Given the description of an element on the screen output the (x, y) to click on. 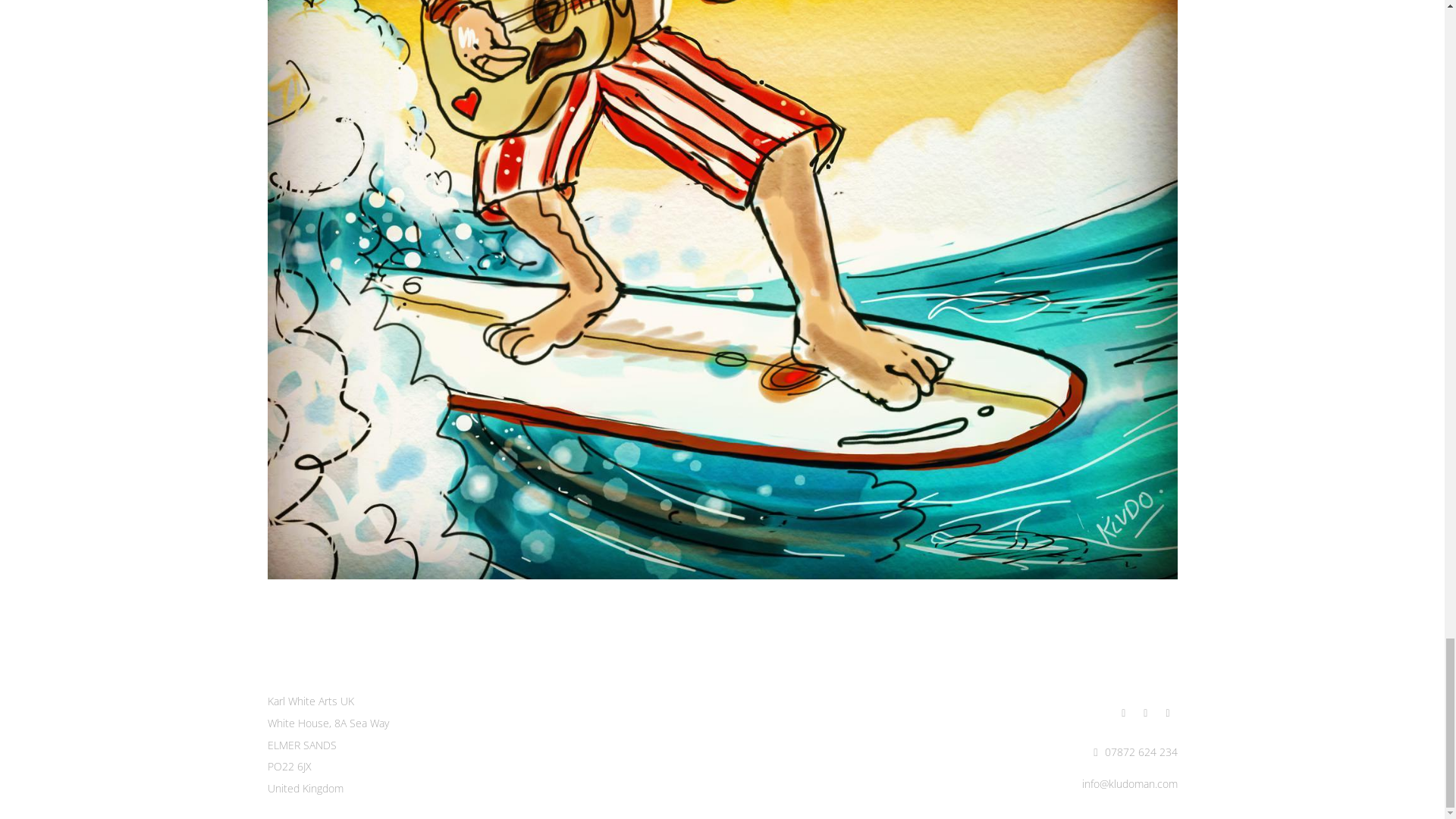
07872 624 234 (1134, 751)
